Given the description of an element on the screen output the (x, y) to click on. 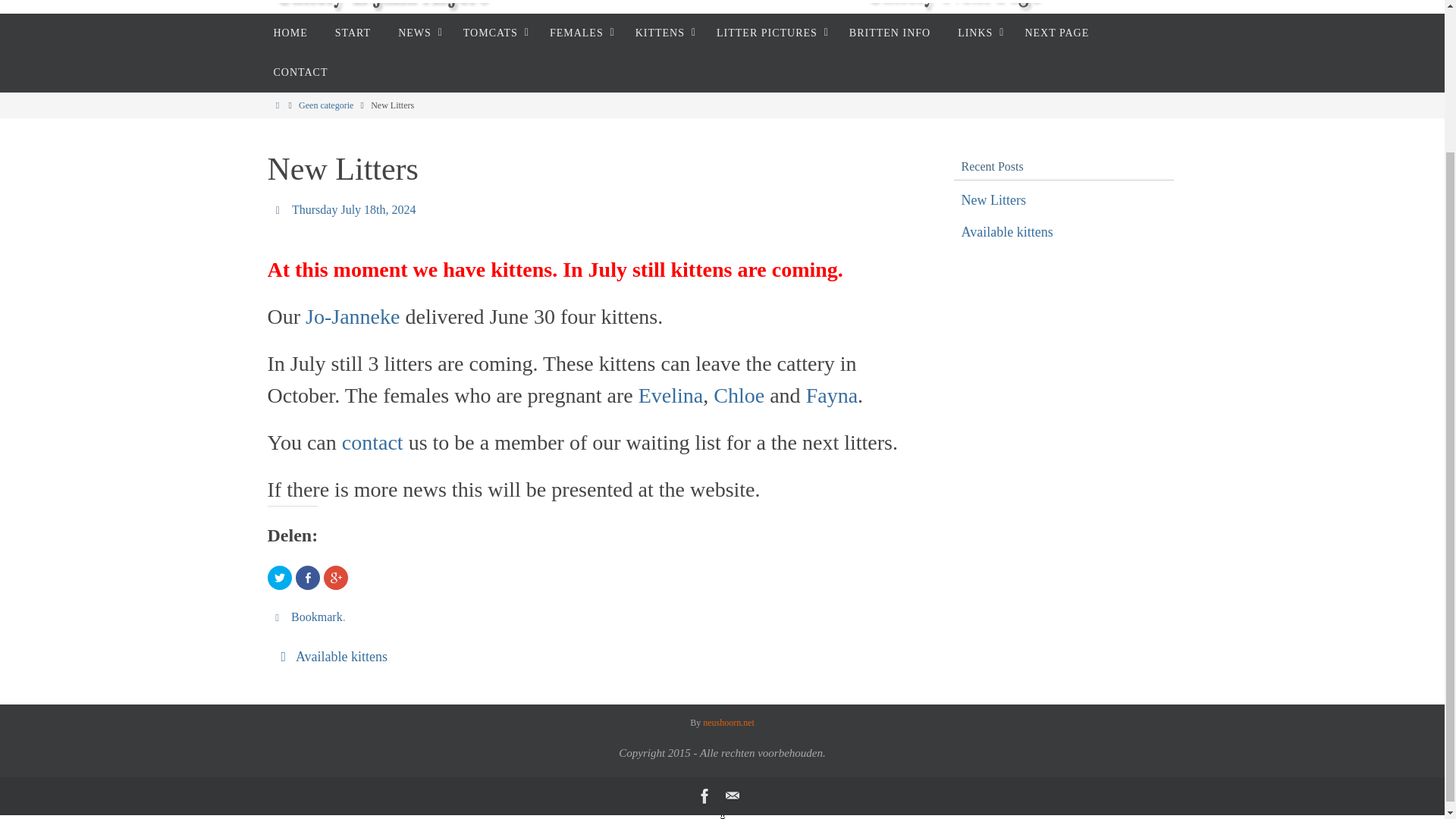
Share on Facebook (307, 577)
START (352, 33)
HOME (289, 33)
Click to share on Twitter (278, 577)
neushoorn.net (728, 722)
TOMCATS (492, 33)
FEMALES (578, 33)
 Bookmark the permalink (278, 616)
Date (278, 209)
NEWS (416, 33)
Facebook (704, 795)
KITTENS (662, 33)
Permalink to New Litters (316, 617)
LITTER PICTURES (769, 33)
Contact (731, 795)
